Given the description of an element on the screen output the (x, y) to click on. 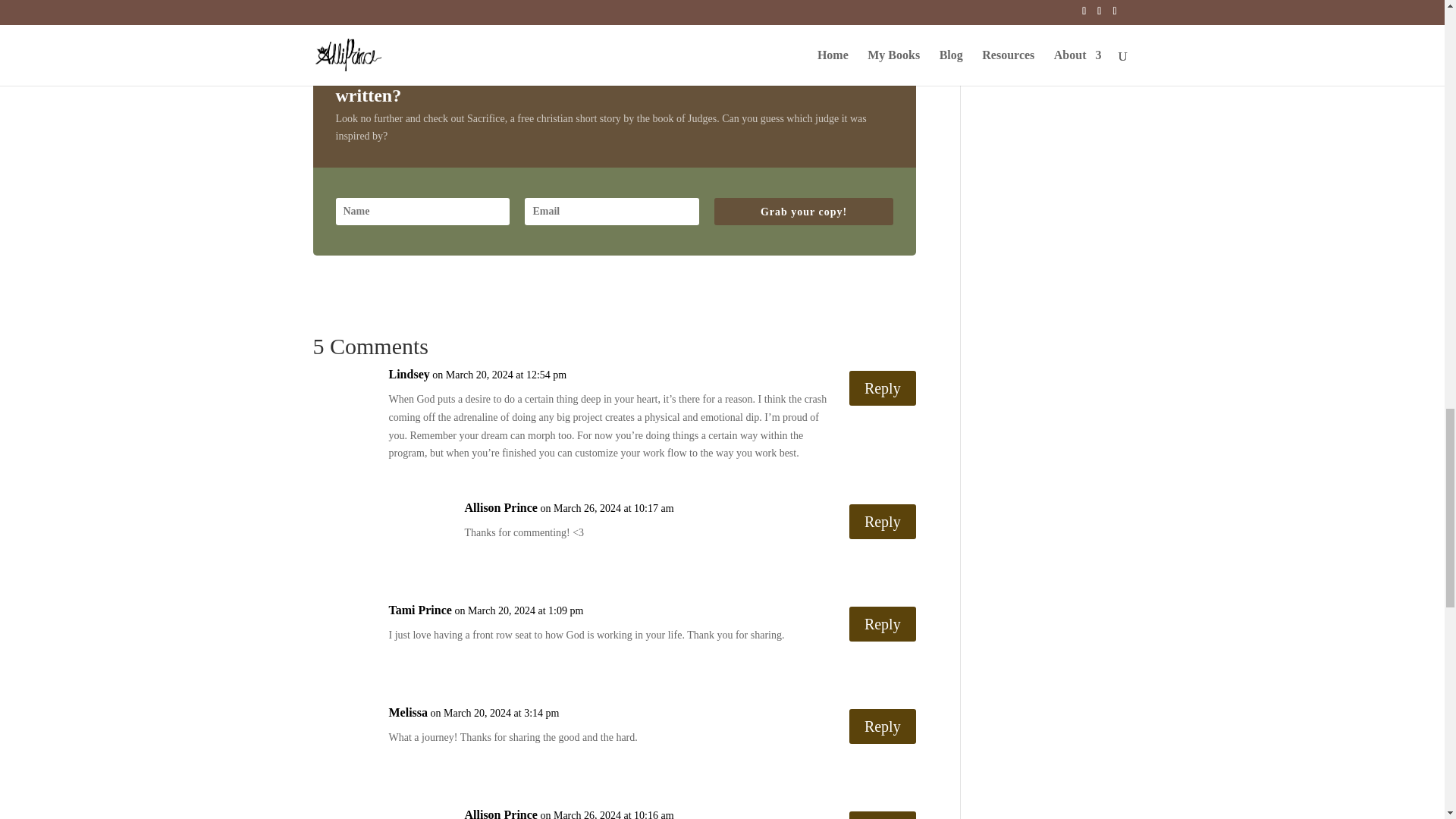
Lindsey (408, 374)
Grab your copy! (803, 211)
Reply (881, 623)
Melissa (408, 712)
Allison Prince (500, 812)
Reply (881, 388)
Allison Prince (500, 507)
Reply (881, 726)
Reply (881, 521)
Reply (881, 815)
